Given the description of an element on the screen output the (x, y) to click on. 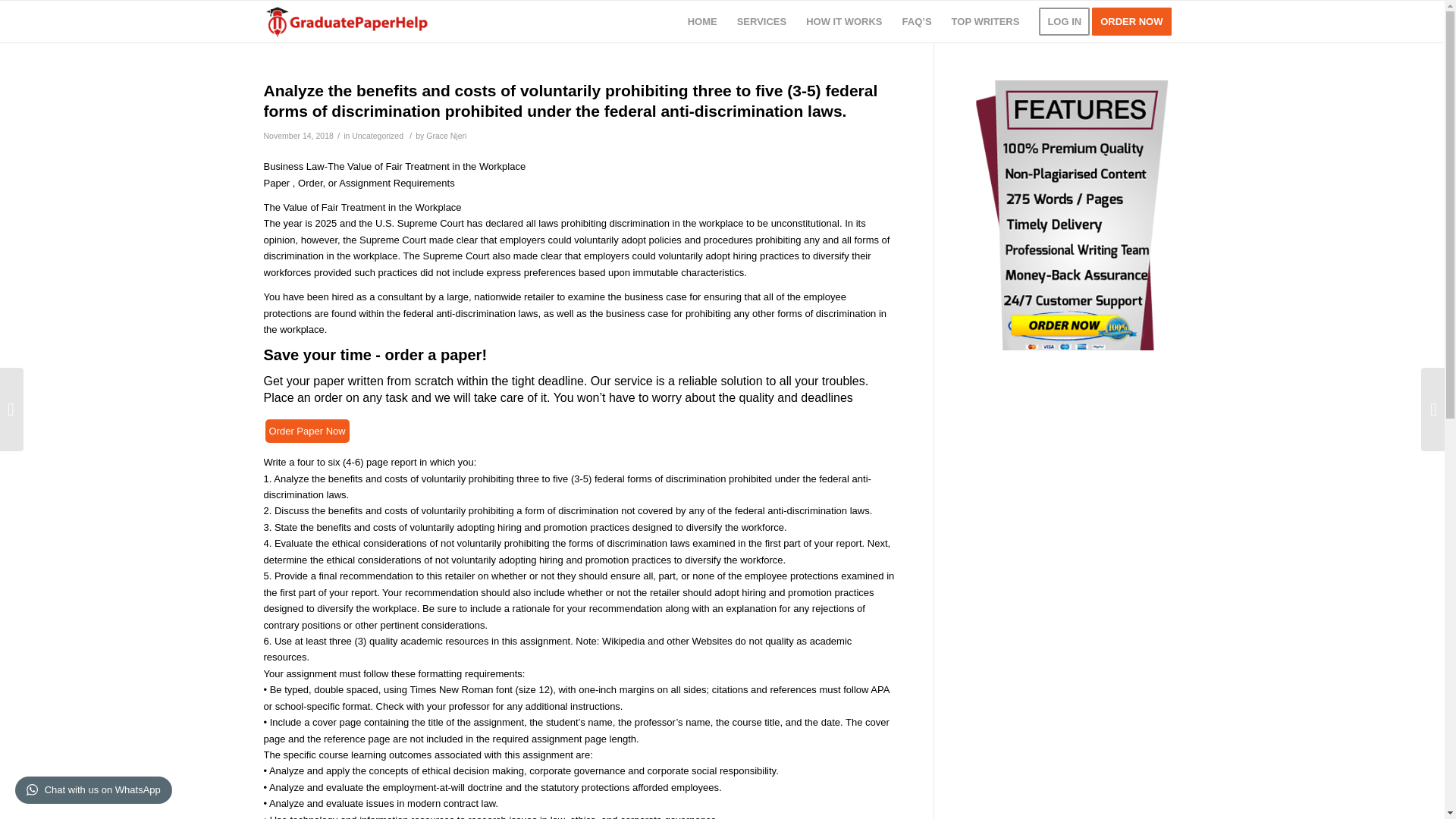
HOME (702, 21)
Order Paper Now (306, 431)
HOW IT WORKS (843, 21)
TOP WRITERS (985, 21)
SERVICES (761, 21)
Grace Njeri (445, 135)
ORDER NOW (1136, 21)
Posts by Grace Njeri (445, 135)
Uncategorized (377, 135)
LOG IN (1064, 21)
